Given the description of an element on the screen output the (x, y) to click on. 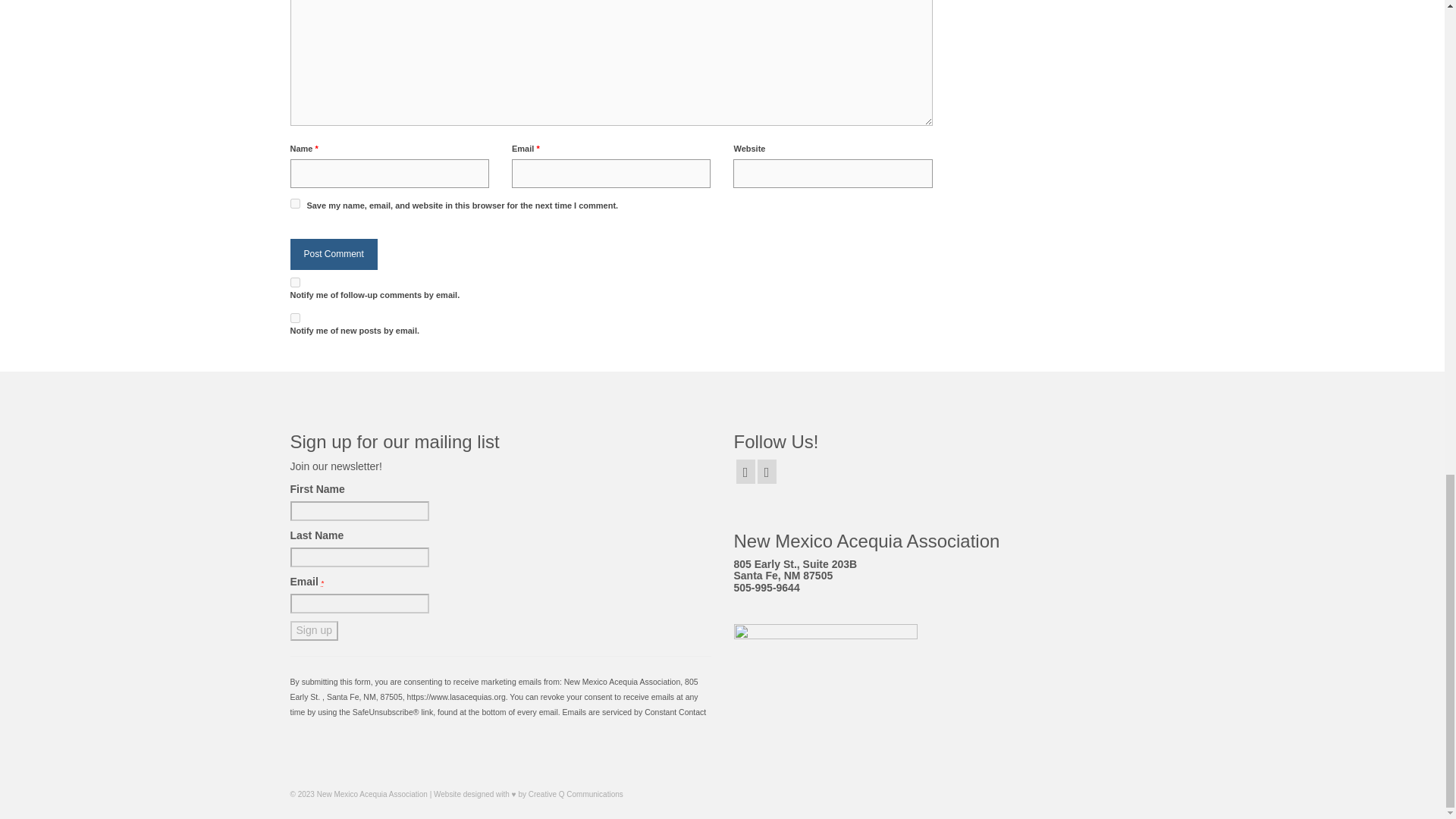
subscribe (294, 317)
subscribe (294, 282)
Post Comment (333, 254)
Sign up (313, 630)
yes (294, 203)
